Given the description of an element on the screen output the (x, y) to click on. 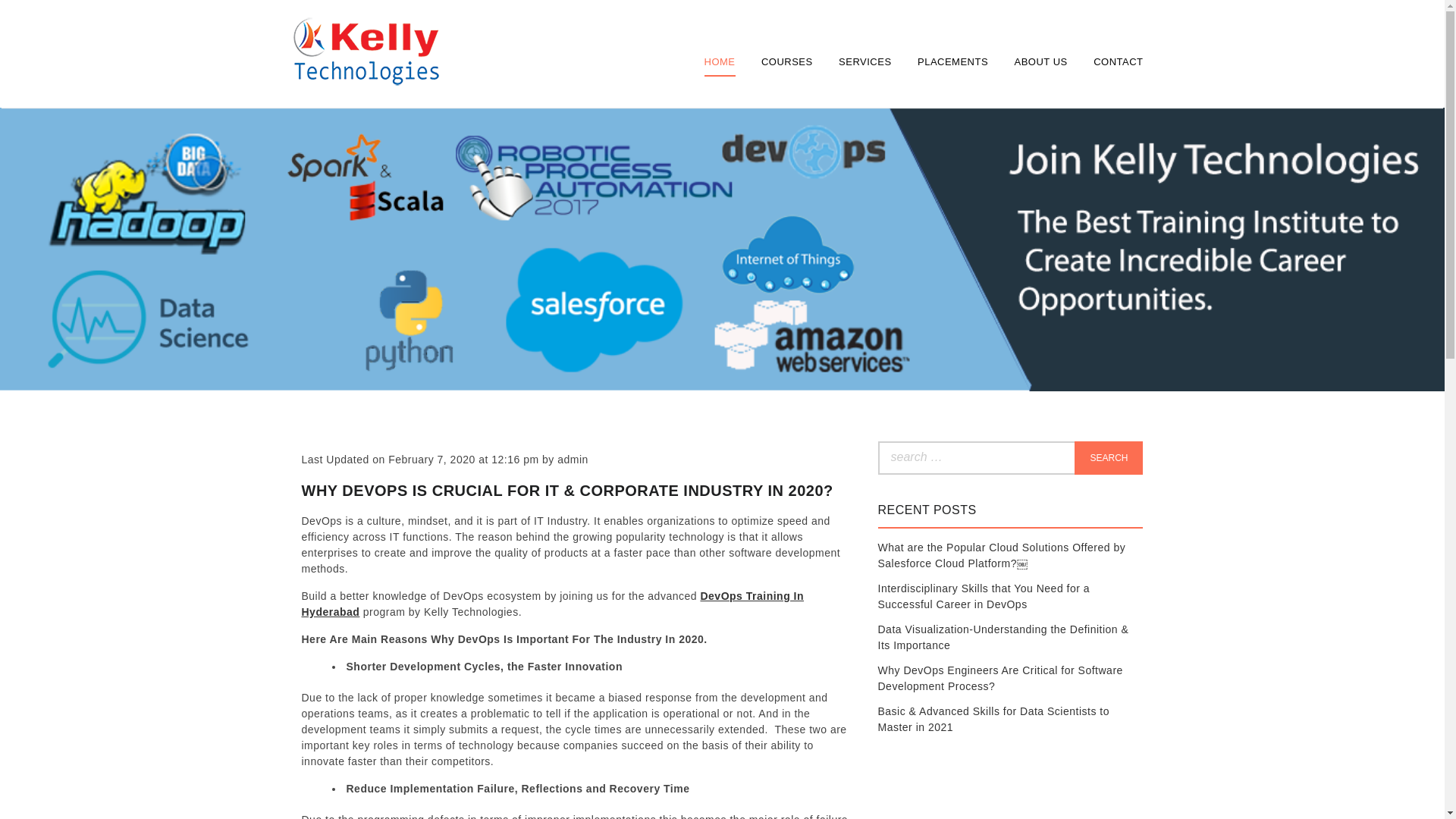
Search (1108, 458)
DevOps Training In Hyderabad (553, 603)
PLACEMENTS (952, 61)
BLOG KELLY TECHNOLOGIES (364, 123)
Search (1108, 458)
Search (1108, 458)
